Given the description of an element on the screen output the (x, y) to click on. 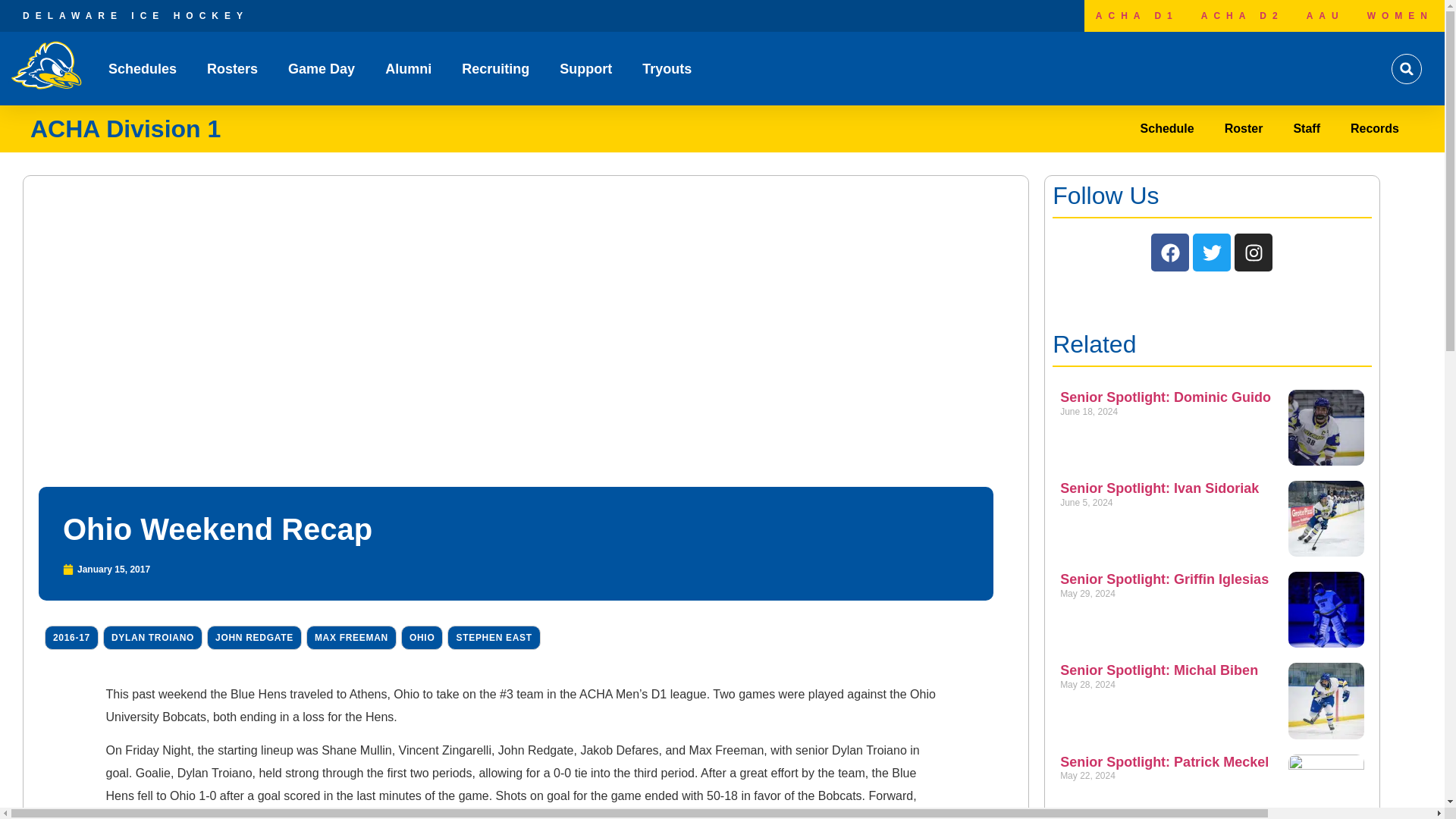
Recruiting (495, 68)
ACHA D1 (1136, 15)
Game Day (321, 68)
Support (585, 68)
DELAWARE ICE HOCKEY (135, 15)
Tryouts (666, 68)
ACHA D2 (1242, 15)
Alumni (407, 68)
Rosters (231, 68)
WOMEN (1399, 15)
